Given the description of an element on the screen output the (x, y) to click on. 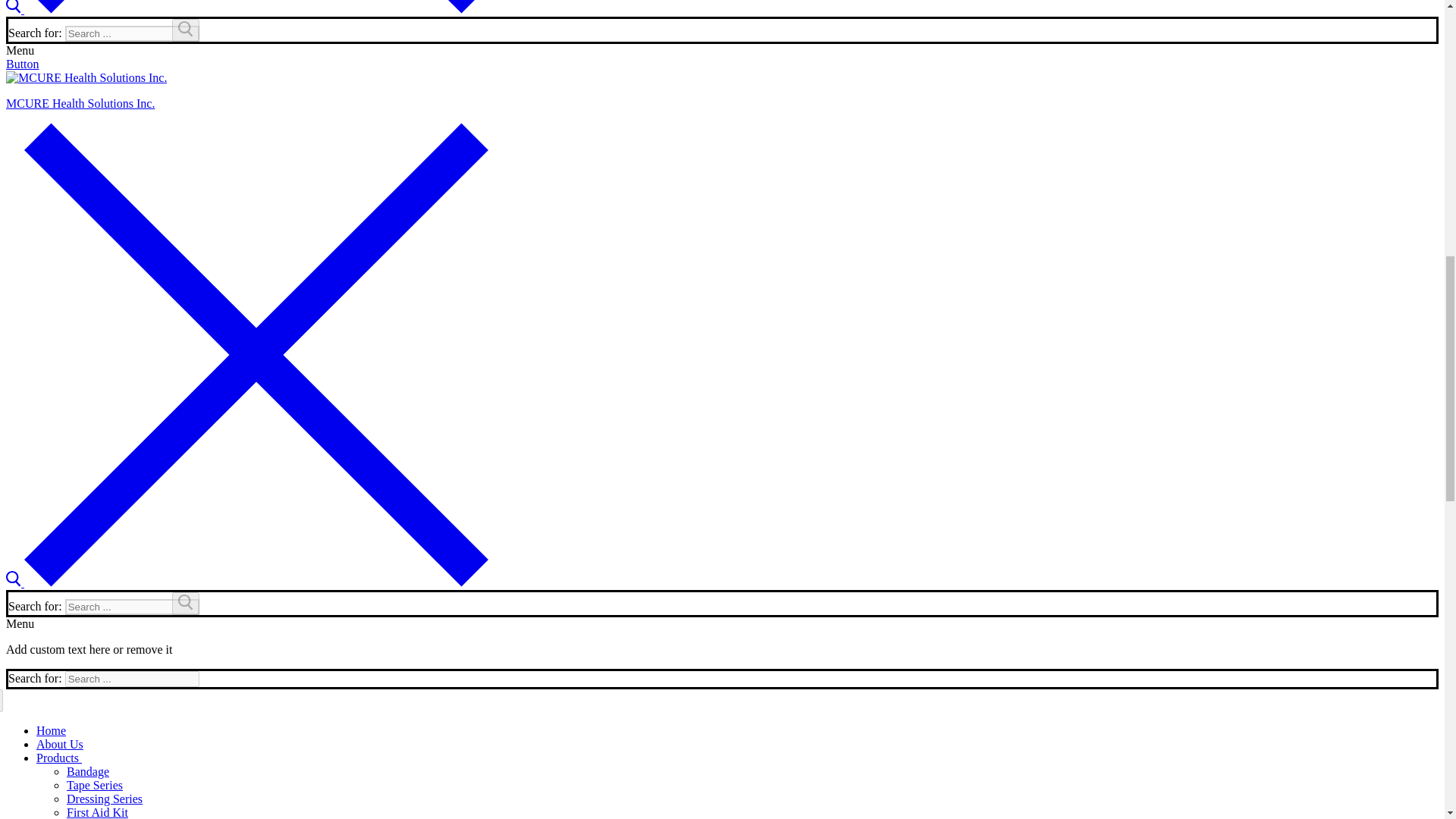
Products  (58, 757)
About Us (59, 744)
Tape Series (94, 784)
Search for: (132, 606)
Dressing Series (104, 798)
Home (50, 730)
Menu (19, 623)
Search for: (132, 678)
First Aid Kit (97, 812)
Button (22, 63)
